Given the description of an element on the screen output the (x, y) to click on. 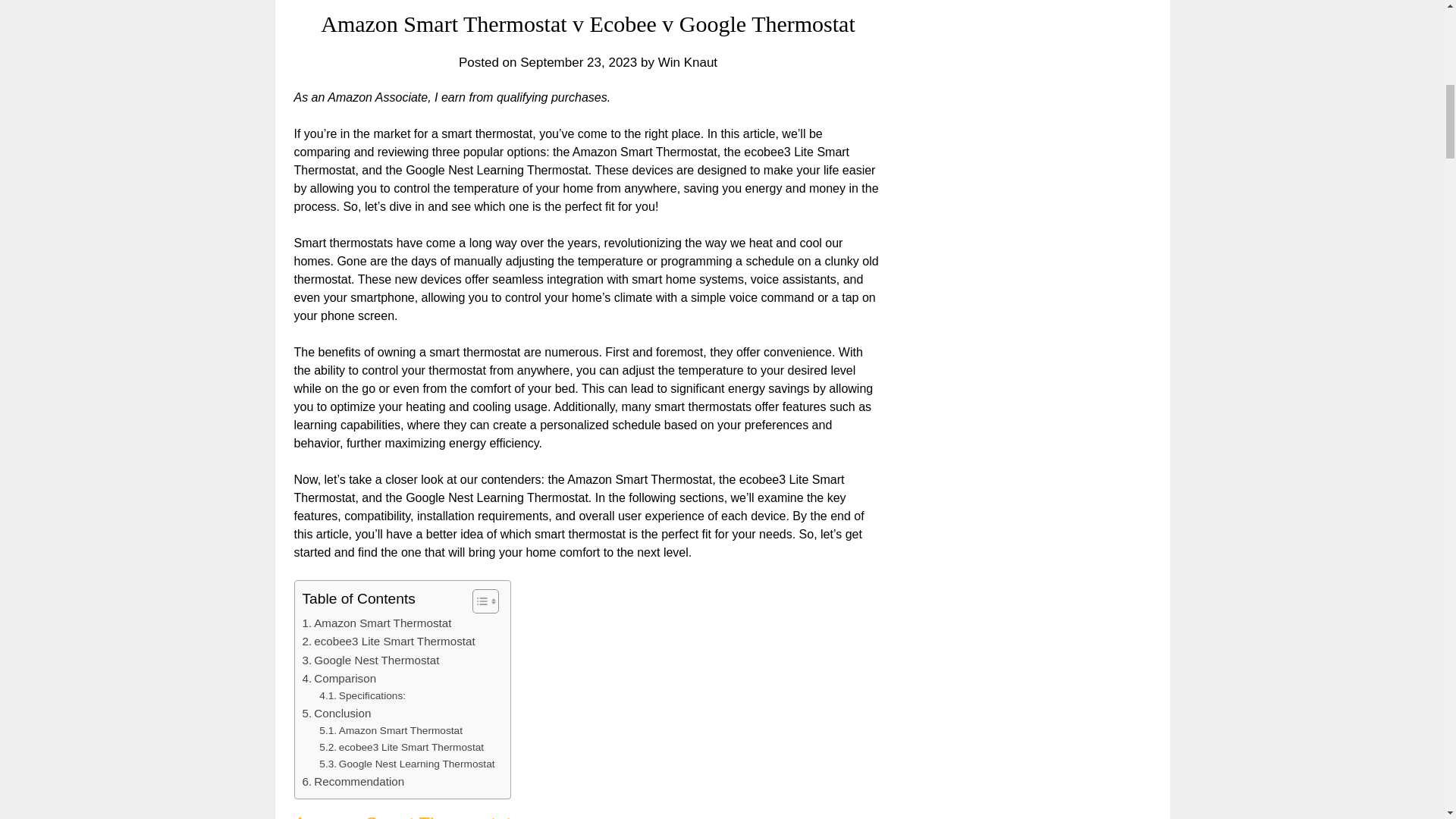
Google Nest Thermostat (370, 660)
September 23, 2023 (578, 62)
Google Nest Learning Thermostat (406, 764)
Comparison (338, 678)
Amazon Smart Thermostat (376, 623)
Recommendation (352, 782)
Recommendation (352, 782)
Google Nest Learning Thermostat (406, 764)
ecobee3 Lite Smart Thermostat (387, 641)
ecobee3 Lite Smart Thermostat (387, 641)
